Given the description of an element on the screen output the (x, y) to click on. 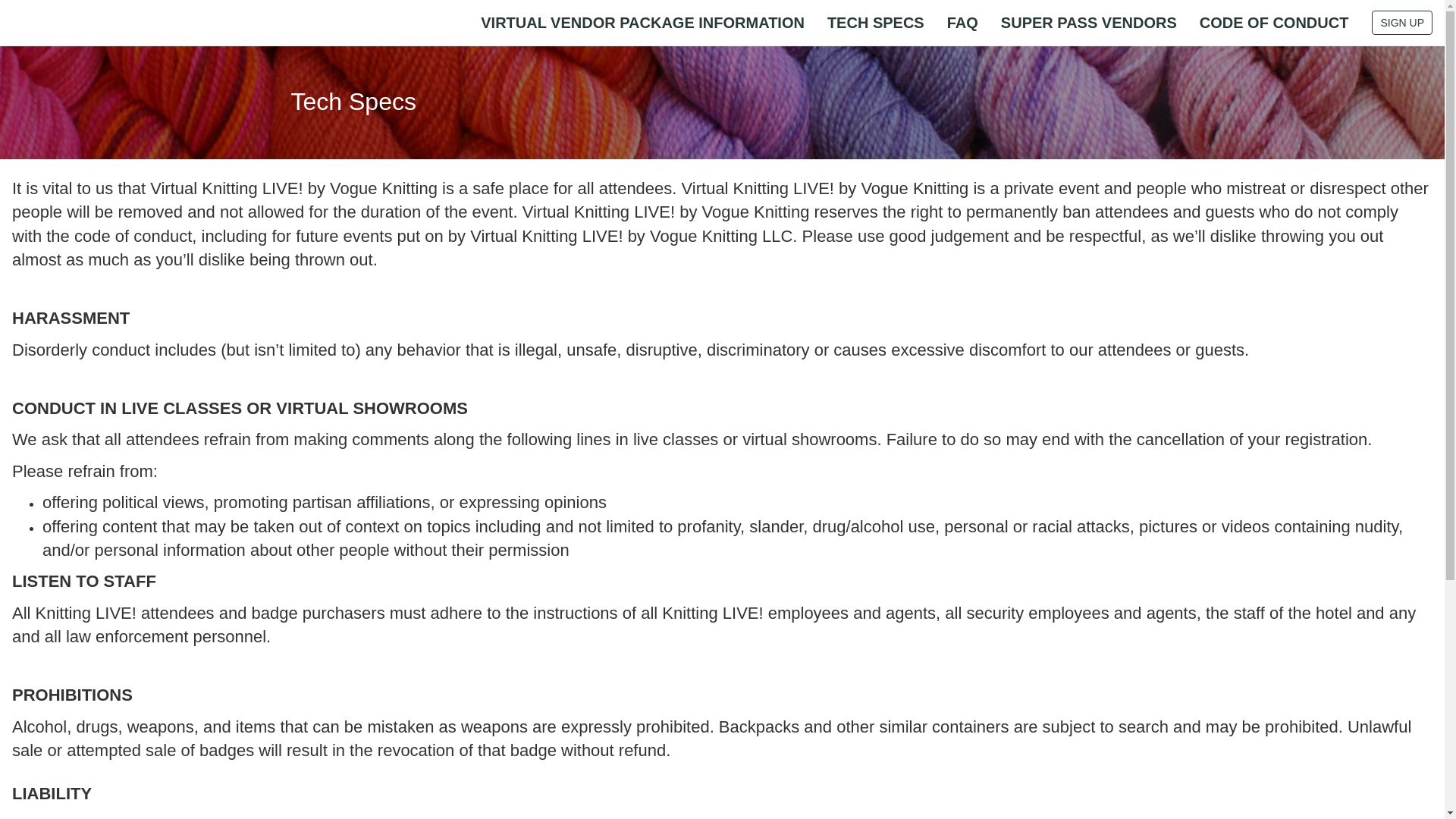
VIRTUAL VENDOR PACKAGE INFORMATION (641, 22)
FAQ (963, 22)
SIGN UP (1401, 22)
TECH SPECS (875, 22)
CODE OF CONDUCT (1273, 22)
SUPER PASS VENDORS (1089, 22)
